Given the description of an element on the screen output the (x, y) to click on. 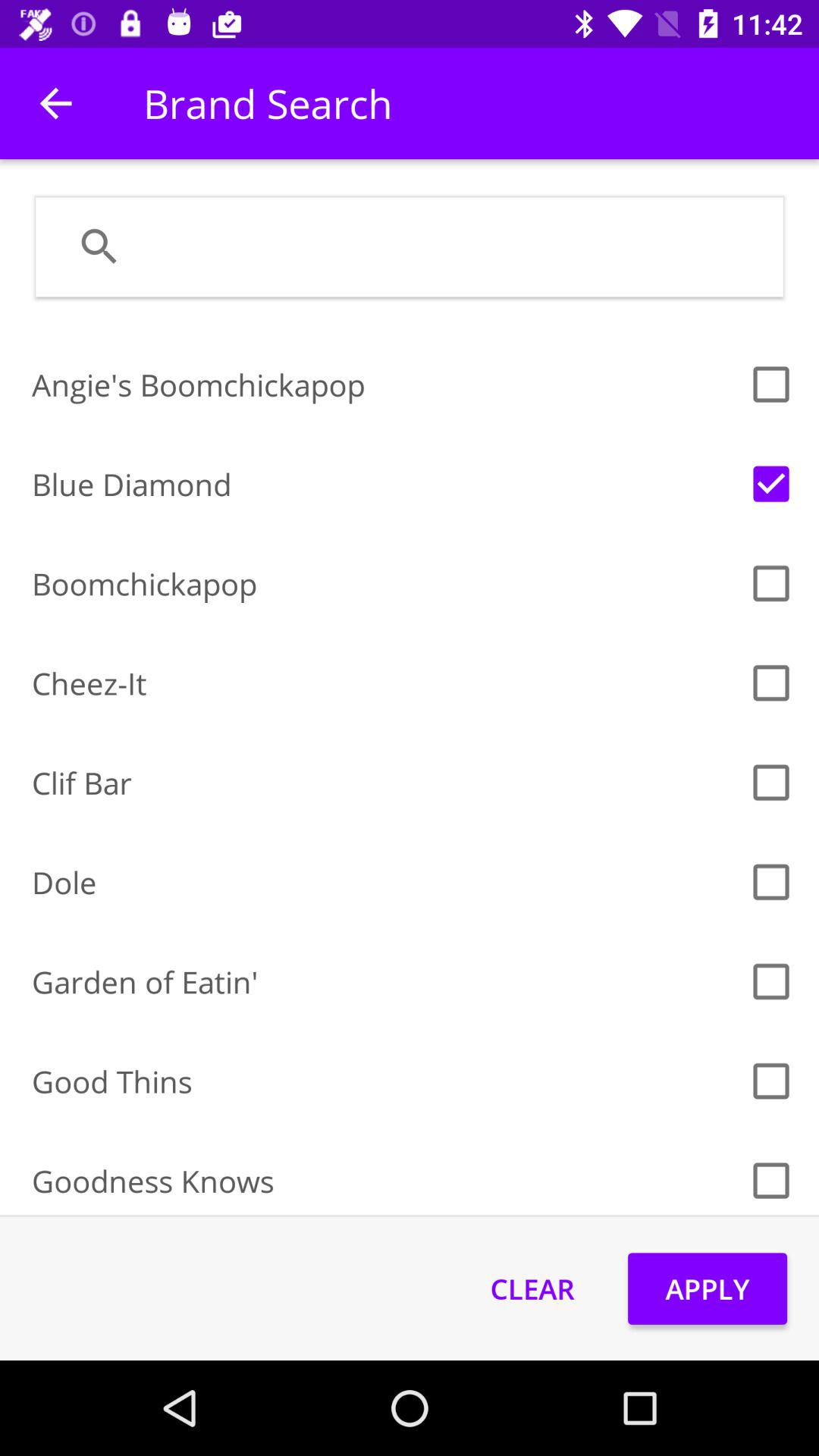
swipe to angie's boomchickapop item (385, 384)
